Given the description of an element on the screen output the (x, y) to click on. 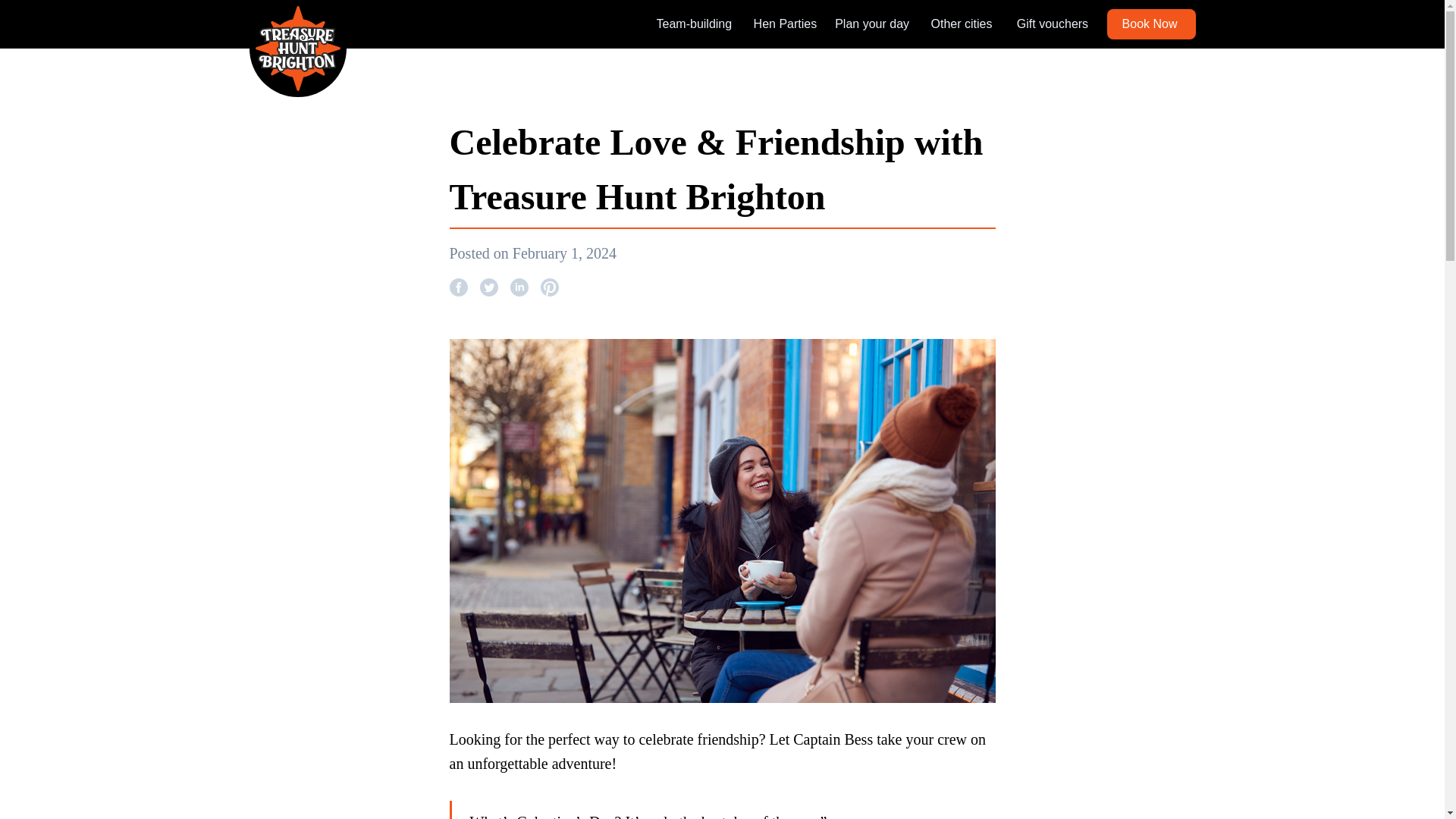
Plan your day (871, 24)
Hen Parties (785, 24)
Other cities (960, 24)
Book Now (1150, 24)
Gift vouchers (1051, 24)
Team-building (694, 24)
